Given the description of an element on the screen output the (x, y) to click on. 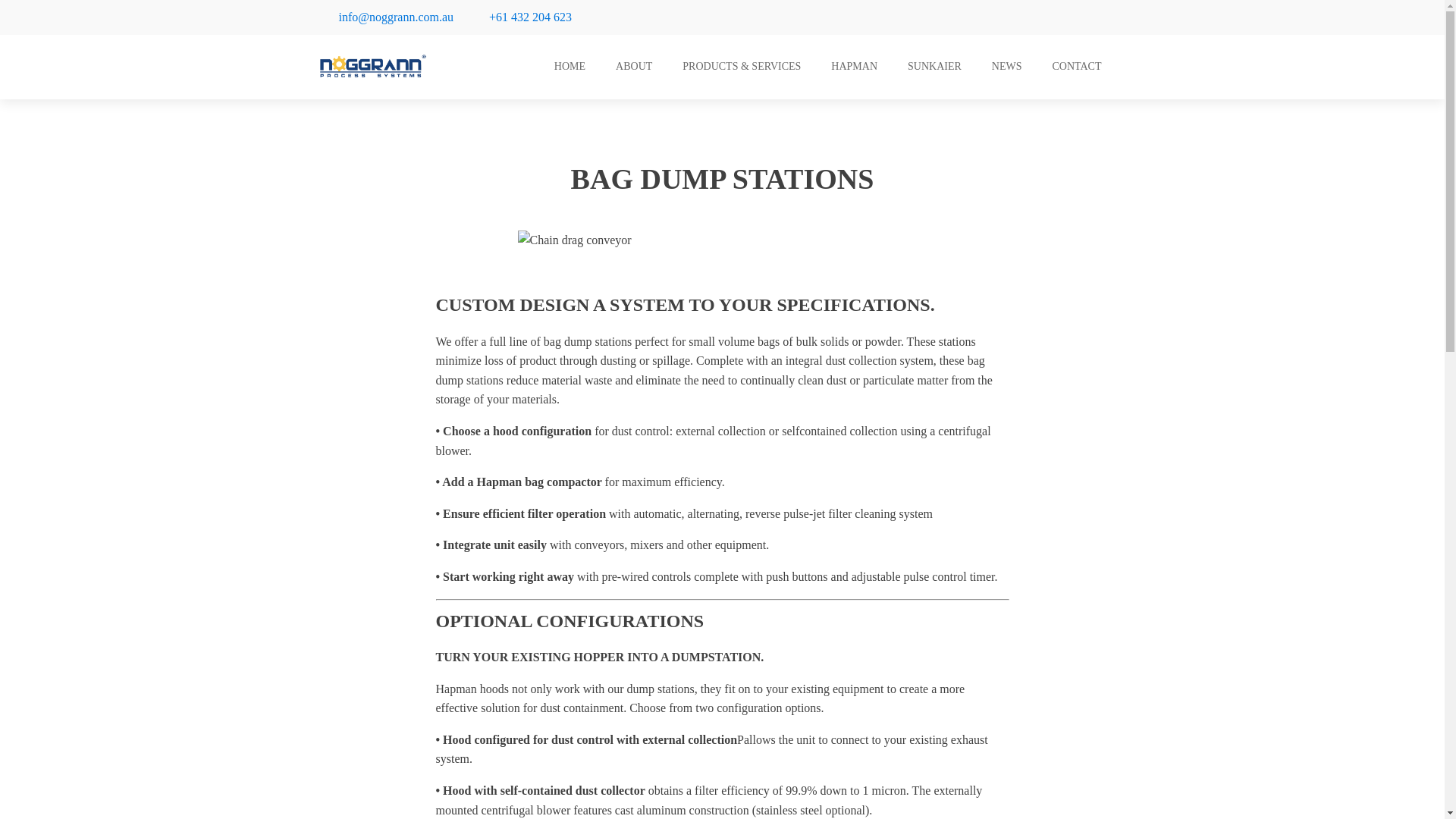
ABOUT (632, 66)
SUNKAIER (934, 66)
HAPMAN (853, 66)
NEWS (1006, 66)
CONTACT (1076, 66)
HOME (568, 66)
